Given the description of an element on the screen output the (x, y) to click on. 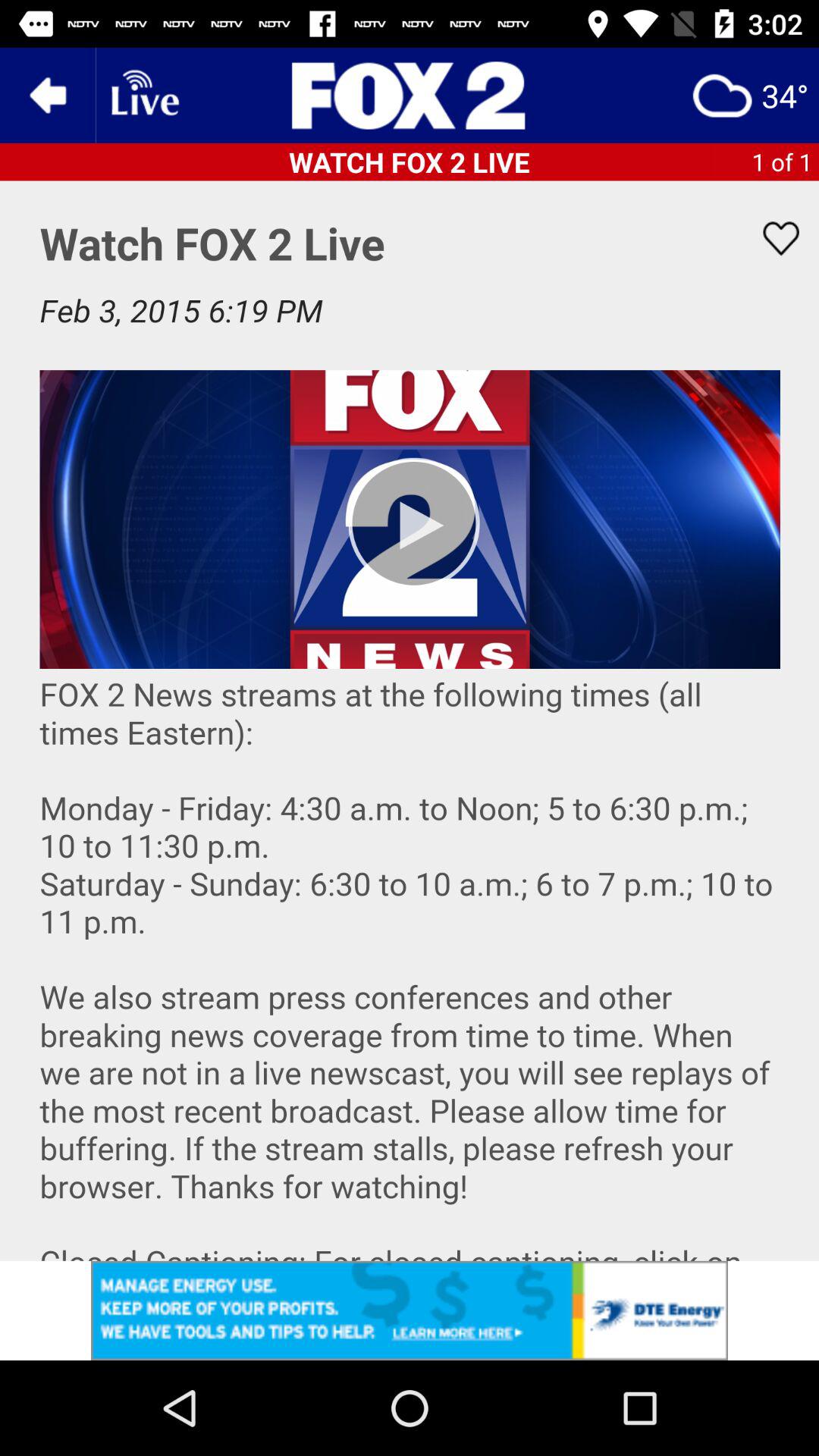
go to previous (47, 95)
